Given the description of an element on the screen output the (x, y) to click on. 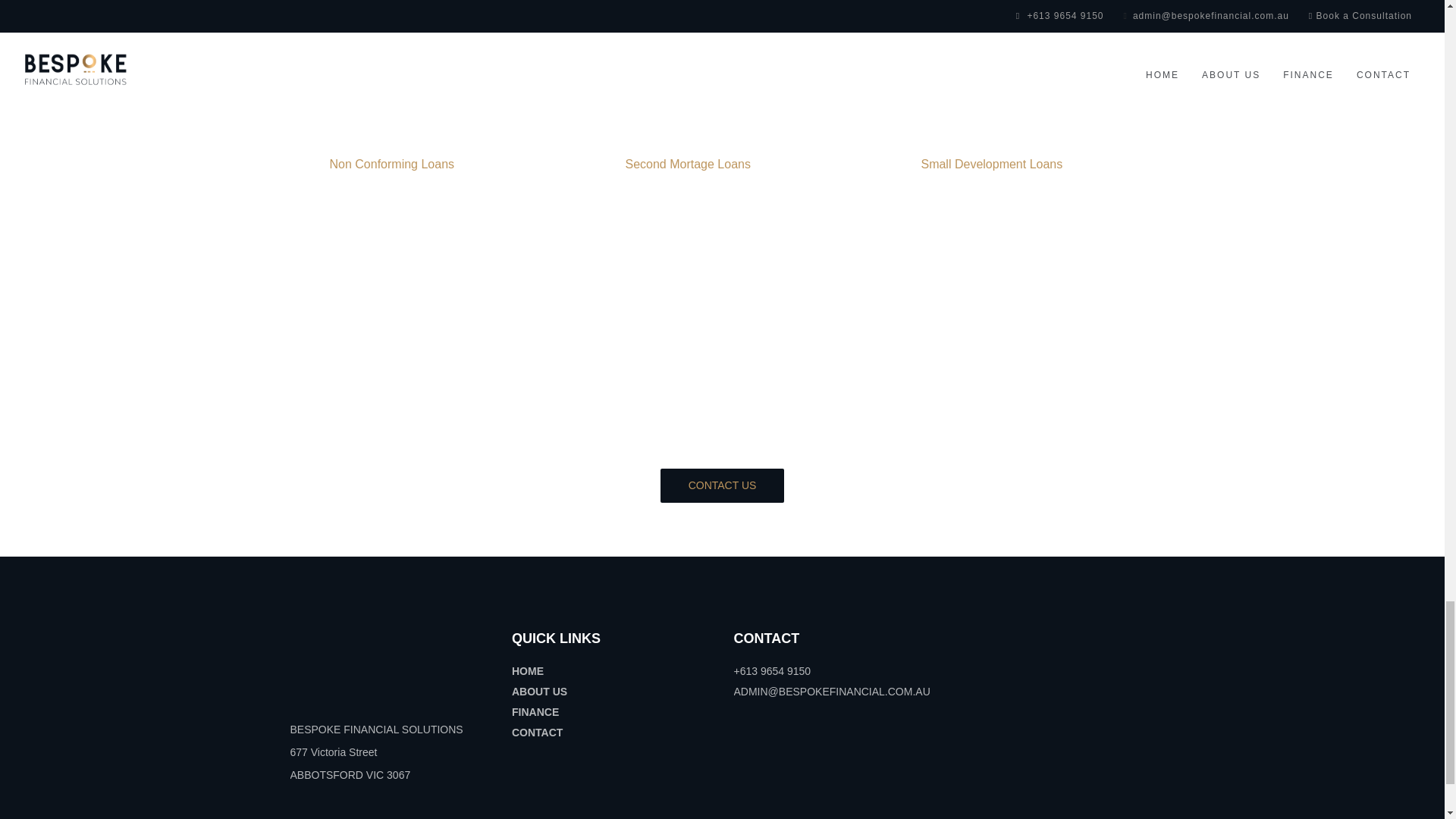
FINANCE (535, 711)
ABOUT US (539, 691)
HOME (527, 671)
CONTACT US (722, 485)
CONTACT (537, 732)
